Given the description of an element on the screen output the (x, y) to click on. 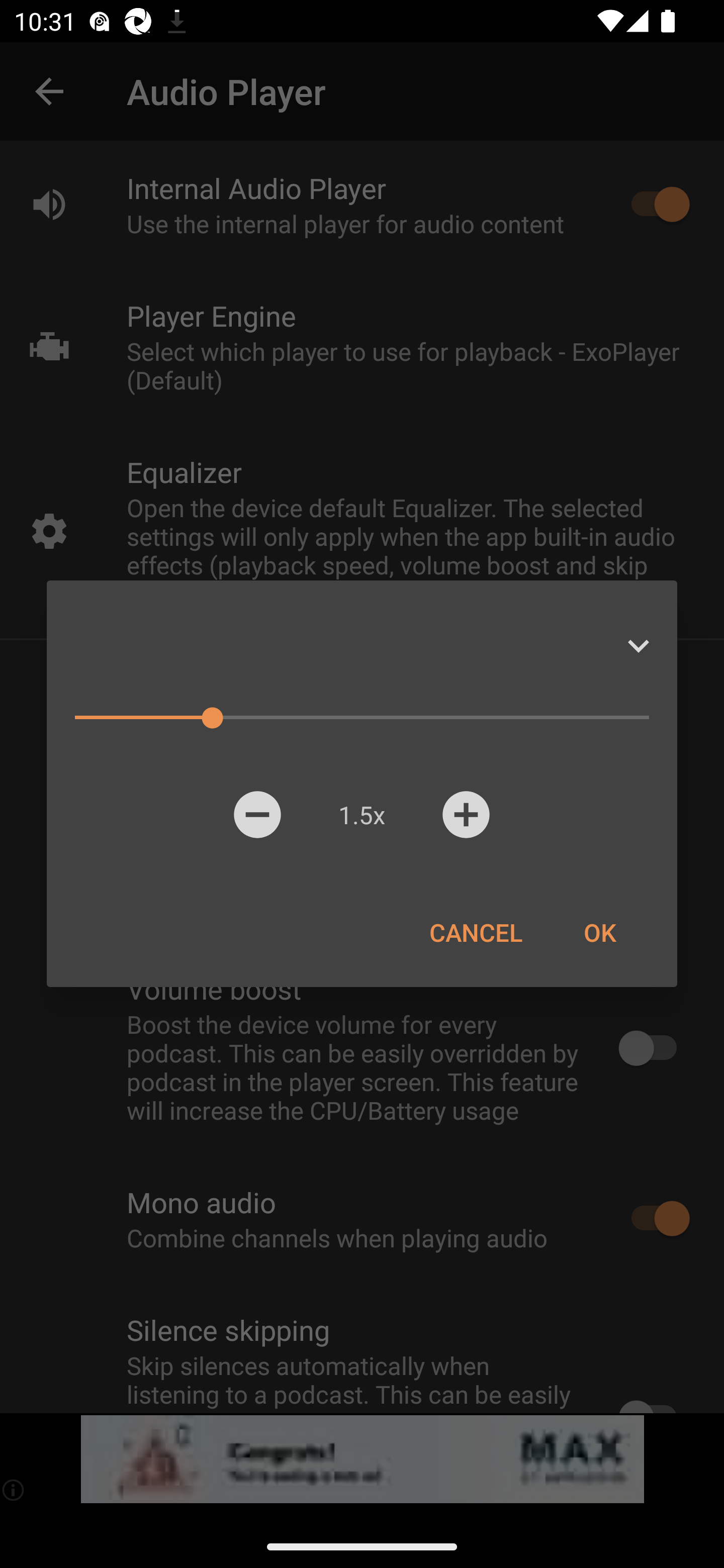
Expand (637, 645)
1.5x (361, 814)
CANCEL (475, 932)
OK (599, 932)
